Given the description of an element on the screen output the (x, y) to click on. 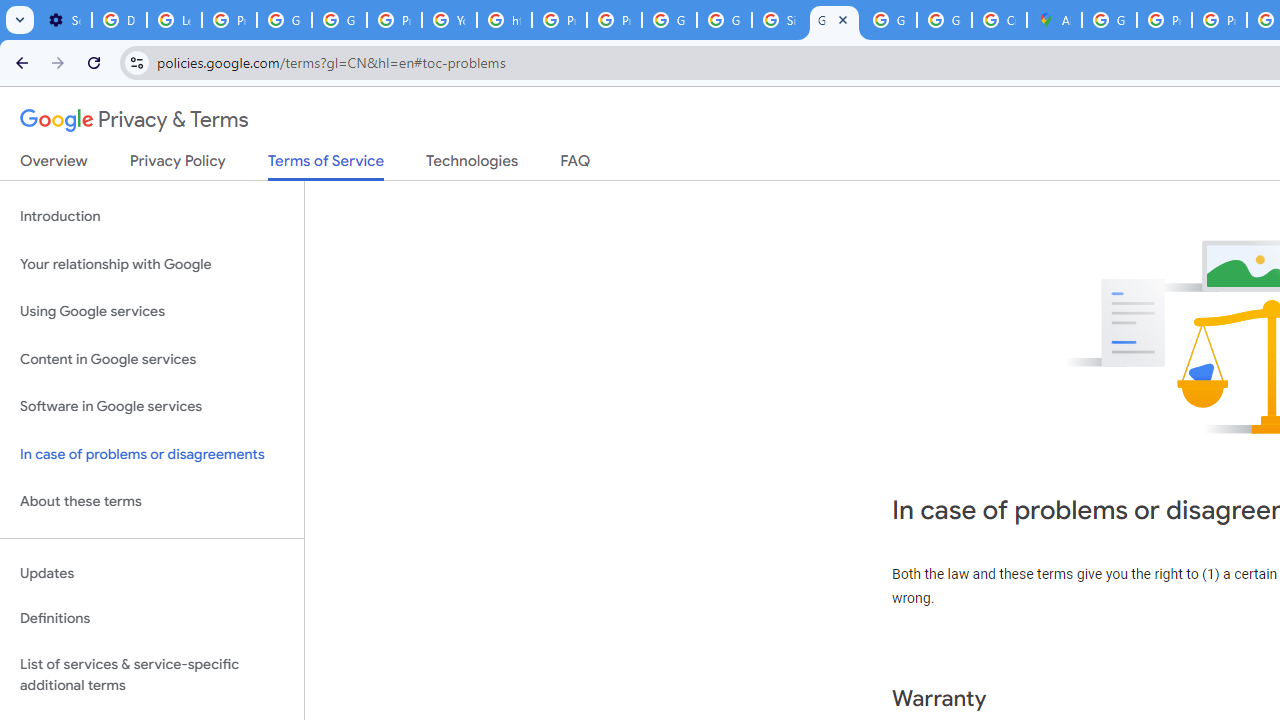
Privacy Policy (177, 165)
Technologies (472, 165)
Delete photos & videos - Computer - Google Photos Help (119, 20)
Close (843, 19)
List of services & service-specific additional terms (152, 674)
Introduction (152, 216)
Definitions (152, 619)
In case of problems or disagreements (152, 453)
Back (19, 62)
https://scholar.google.com/ (504, 20)
About these terms (152, 502)
